Given the description of an element on the screen output the (x, y) to click on. 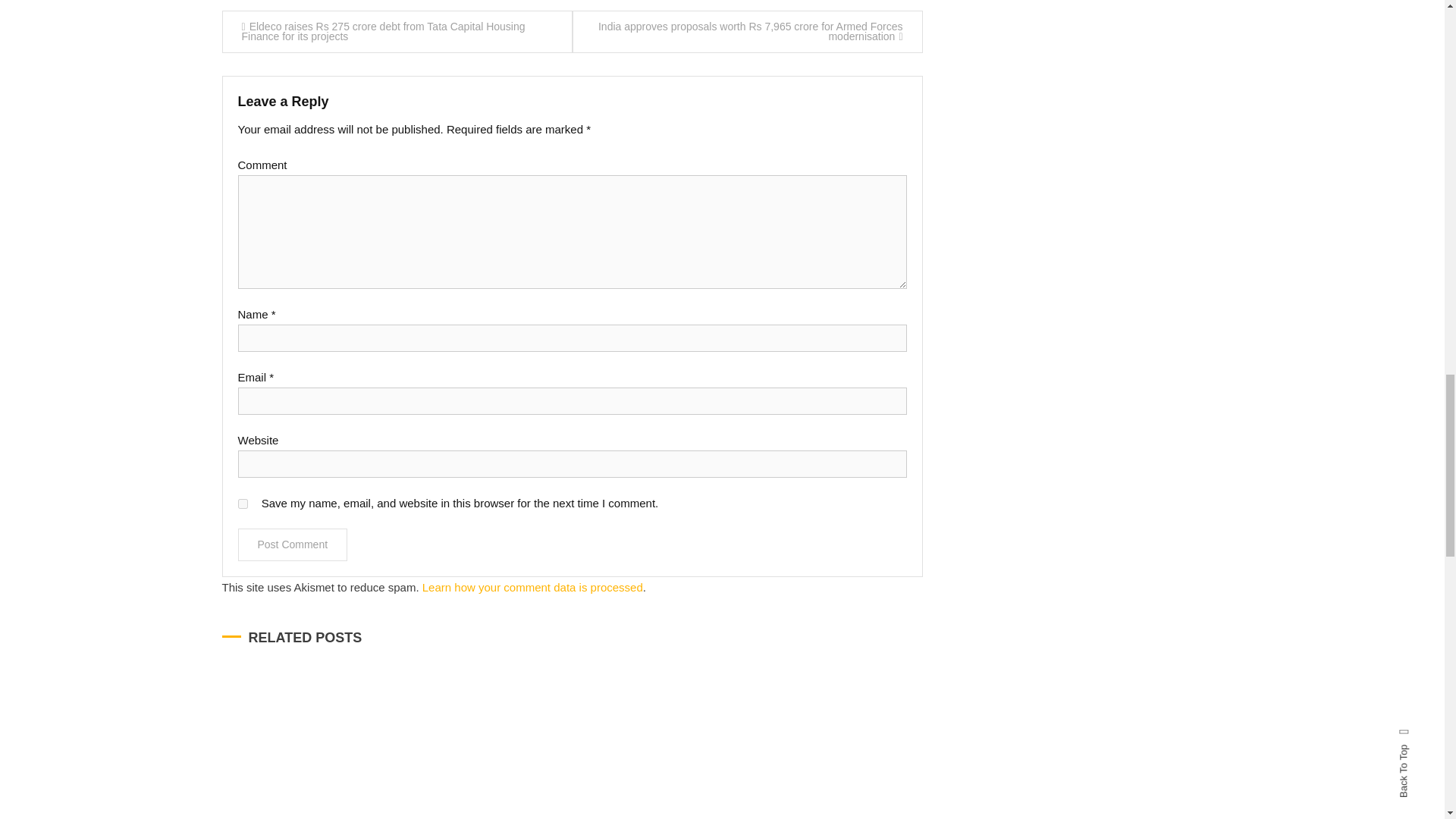
Post Comment (292, 544)
Learn how your comment data is processed (532, 586)
yes (242, 503)
Post Comment (292, 544)
